Given the description of an element on the screen output the (x, y) to click on. 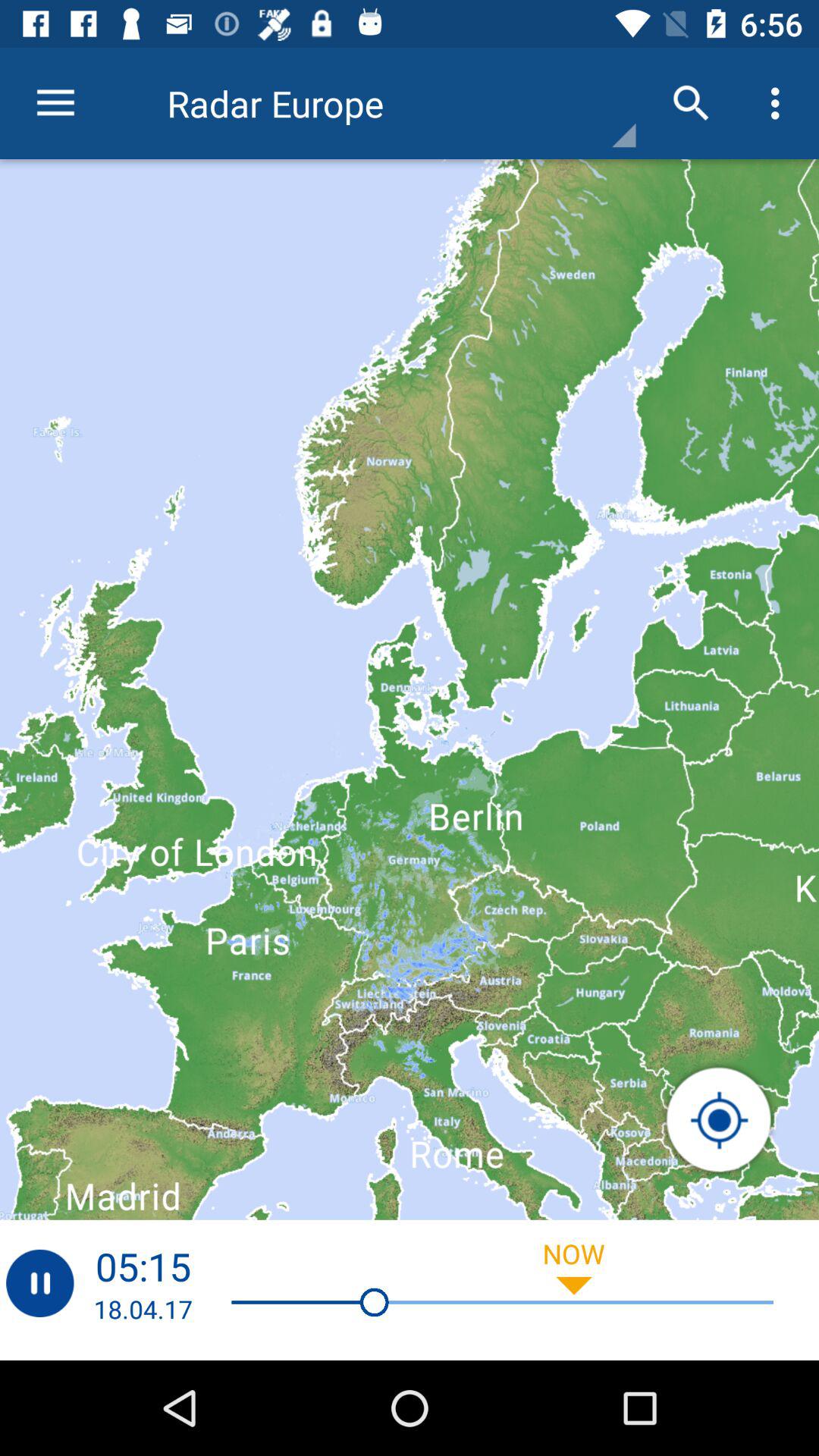
pause radar graphics (39, 1283)
